Given the description of an element on the screen output the (x, y) to click on. 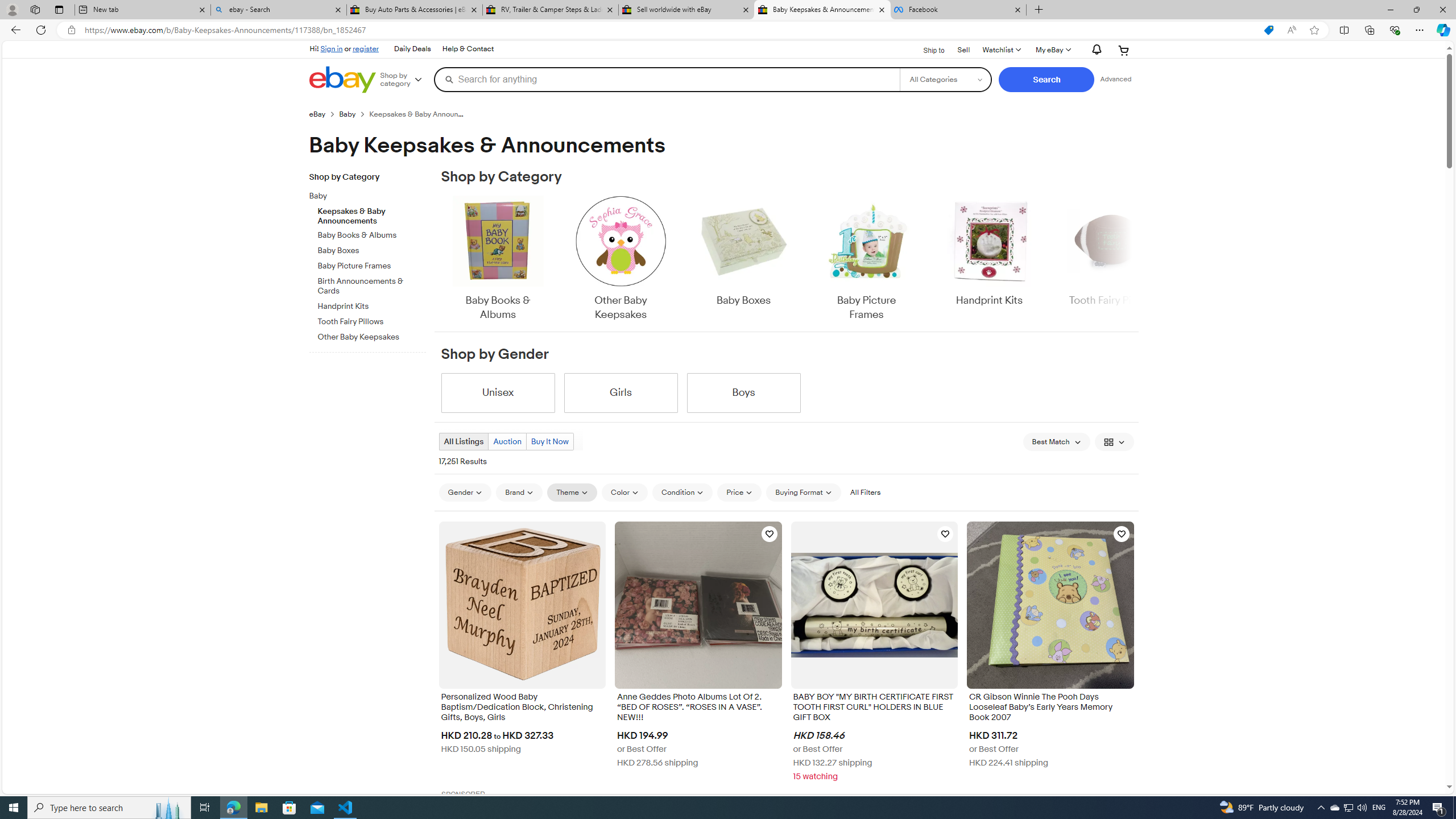
All Filters (864, 492)
Boys (742, 392)
ebay - Search (277, 9)
Baby Boxes (742, 258)
eBay (323, 113)
Help & Contact (467, 49)
Price (739, 492)
Color (624, 492)
Auction (507, 441)
Theme (572, 492)
